Given the description of an element on the screen output the (x, y) to click on. 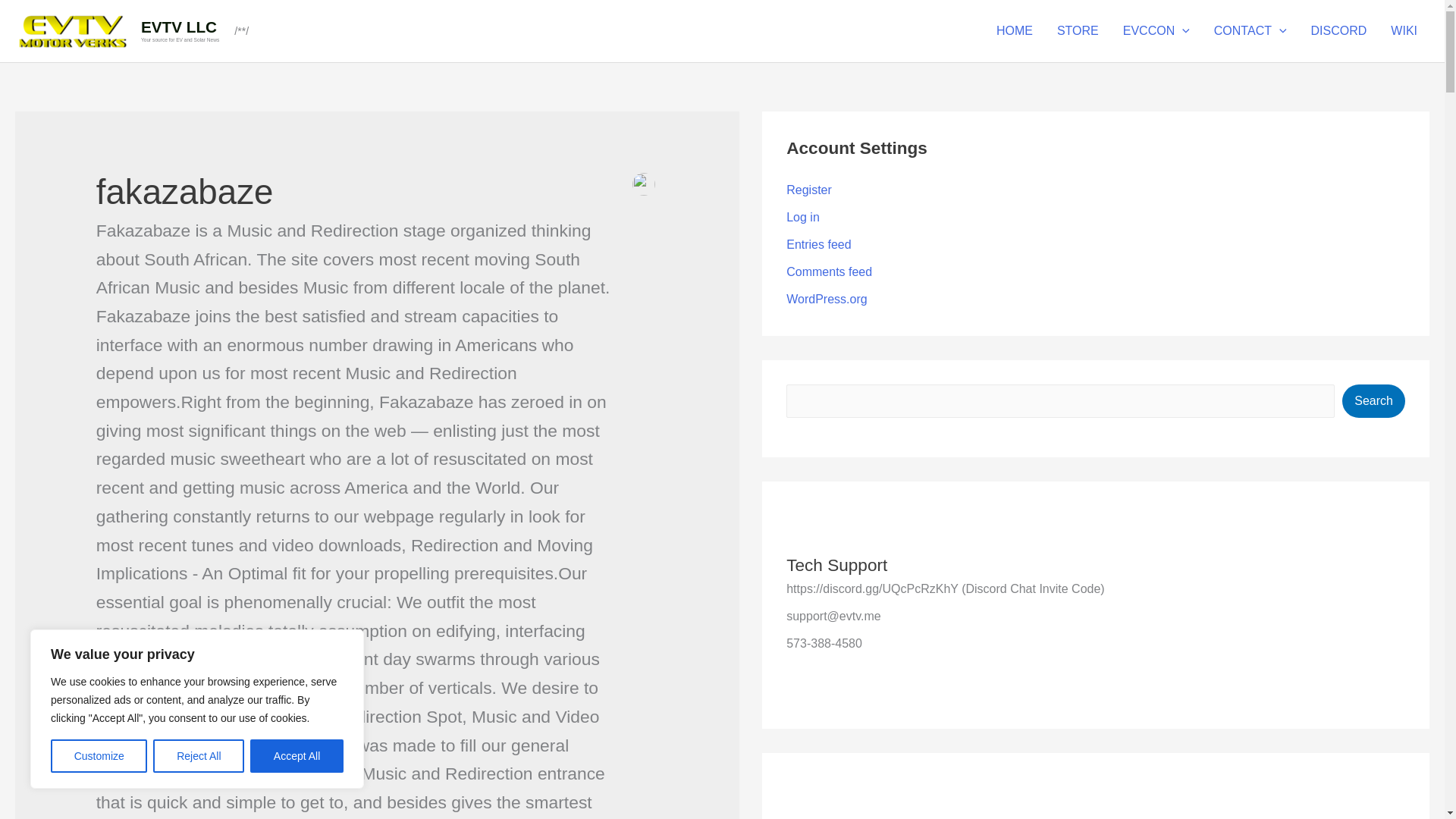
DISCORD (1338, 30)
Customize (98, 756)
EVTV LLC (178, 27)
				BOLD		 (1077, 30)
CONTACT (1250, 30)
HOME (1014, 30)
WIKI (1403, 30)
EVCCON (1156, 30)
